Given the description of an element on the screen output the (x, y) to click on. 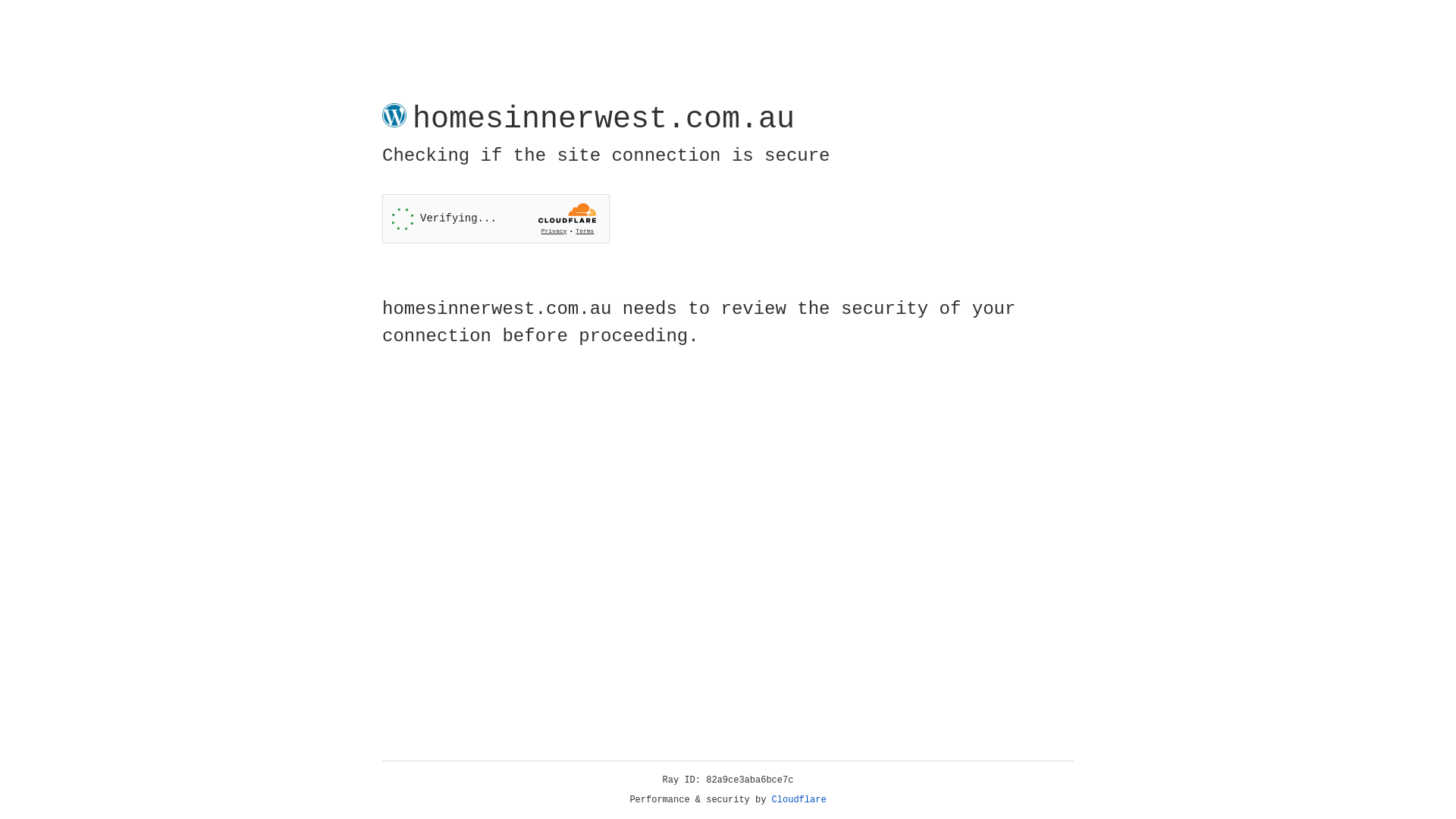
Cloudflare Element type: text (798, 799)
Widget containing a Cloudflare security challenge Element type: hover (495, 218)
